Given the description of an element on the screen output the (x, y) to click on. 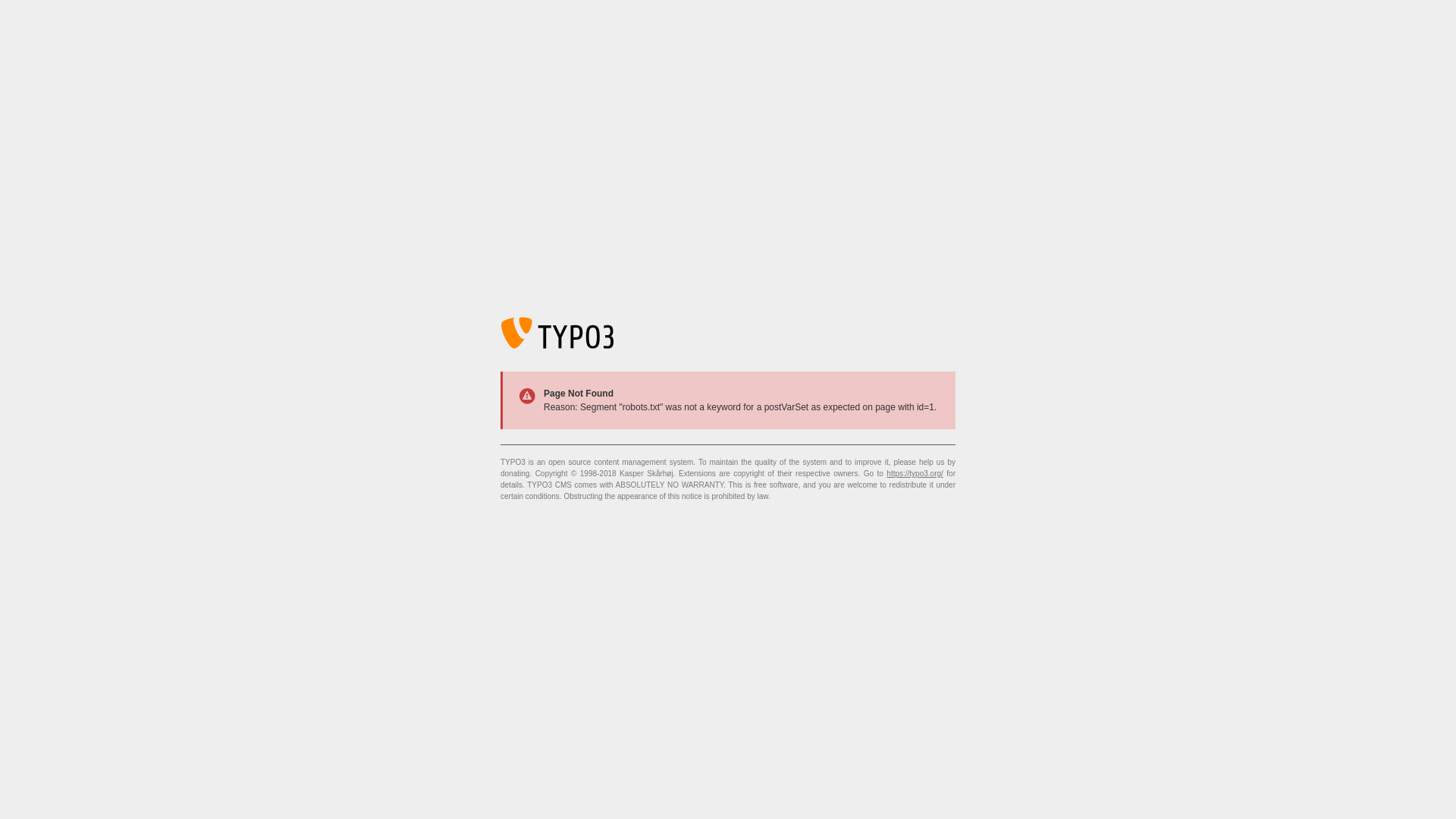
https://typo3.org/ Element type: text (914, 473)
